Given the description of an element on the screen output the (x, y) to click on. 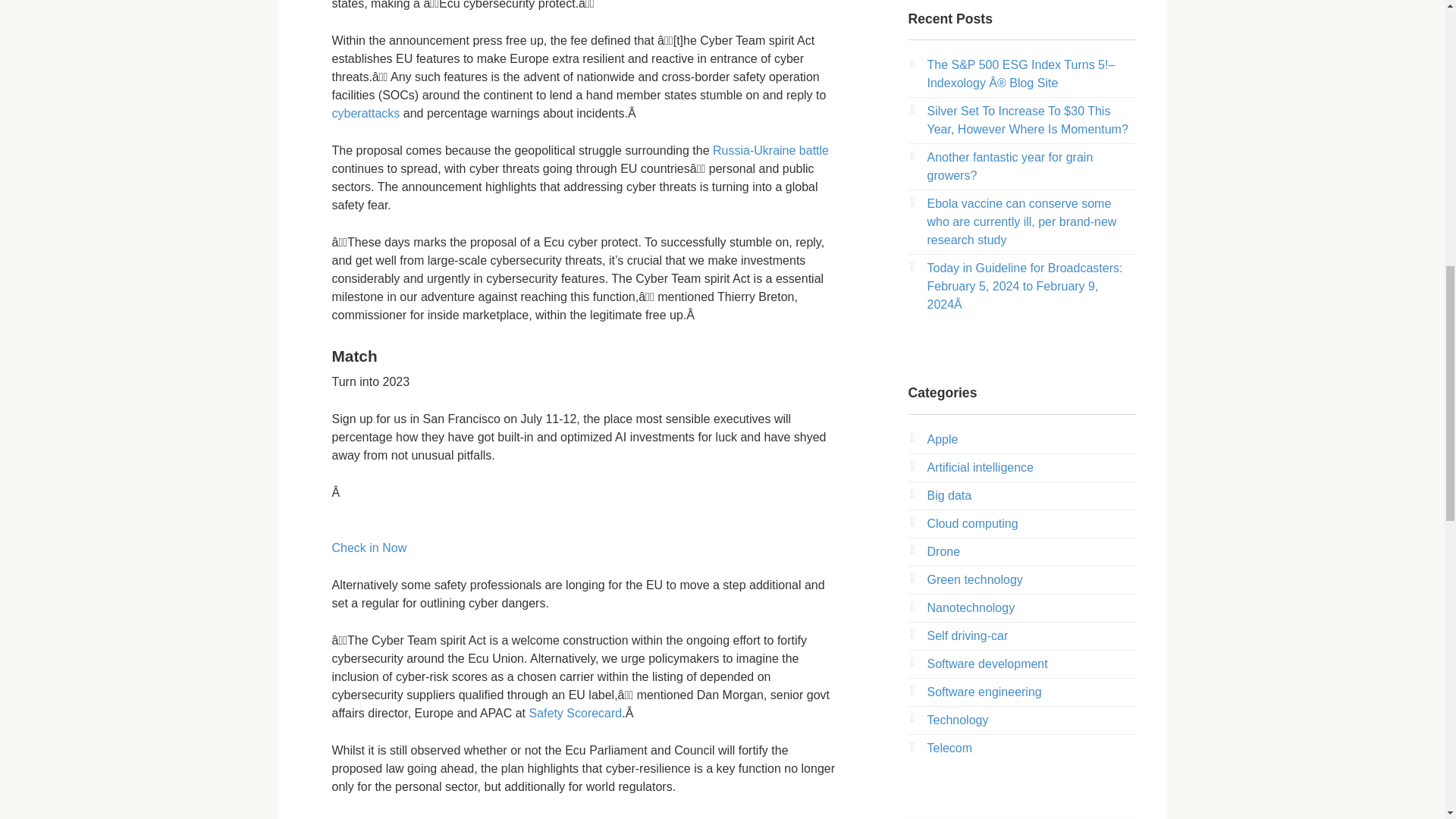
Russia-Ukraine battle (770, 150)
Scorecard (593, 712)
Check in Now (369, 556)
Software development (986, 663)
Green technology (974, 579)
Another fantastic year for grain growers? (1009, 165)
Technology (957, 719)
Cloud computing (971, 522)
Safety (548, 712)
Artificial intelligence (979, 467)
Telecom (949, 748)
Nanotechnology (970, 607)
Big data (948, 495)
Software engineering (983, 691)
Self driving-car (966, 635)
